Given the description of an element on the screen output the (x, y) to click on. 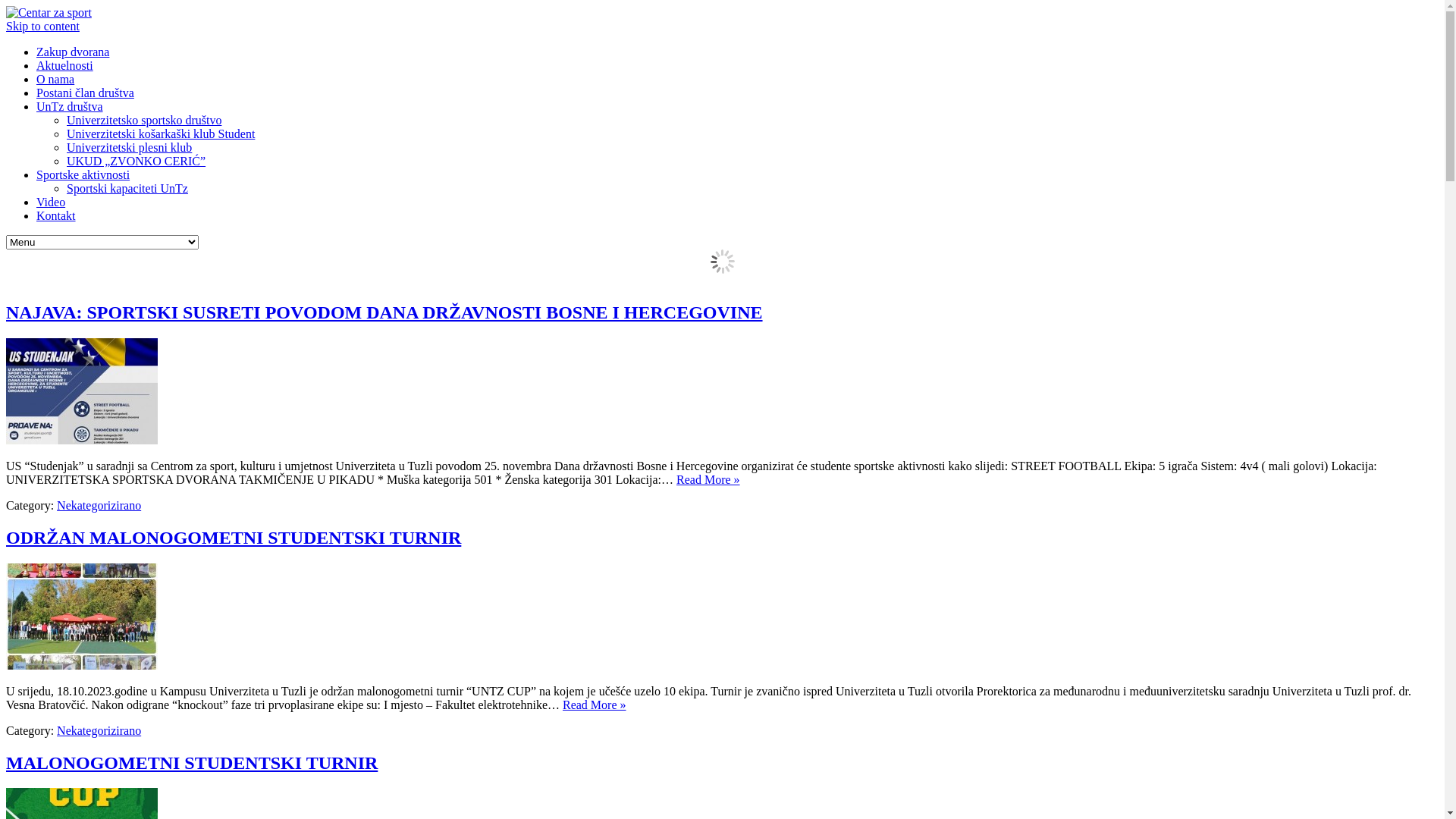
Nekategorizirano Element type: text (98, 504)
Skip to content Element type: text (42, 25)
MALONOGOMETNI STUDENTSKI TURNIR Element type: text (191, 762)
Sportski kapaciteti UnTz Element type: text (127, 188)
Sportske aktivnosti Element type: text (82, 174)
Video Element type: text (50, 201)
Aktuelnosti Element type: text (64, 65)
Zakup dvorana Element type: text (72, 51)
Centar za sport  Element type: hover (48, 12)
Nekategorizirano Element type: text (98, 730)
O nama Element type: text (55, 78)
Univerzitetski plesni klub Element type: text (128, 147)
Kontakt Element type: text (55, 215)
